Given the description of an element on the screen output the (x, y) to click on. 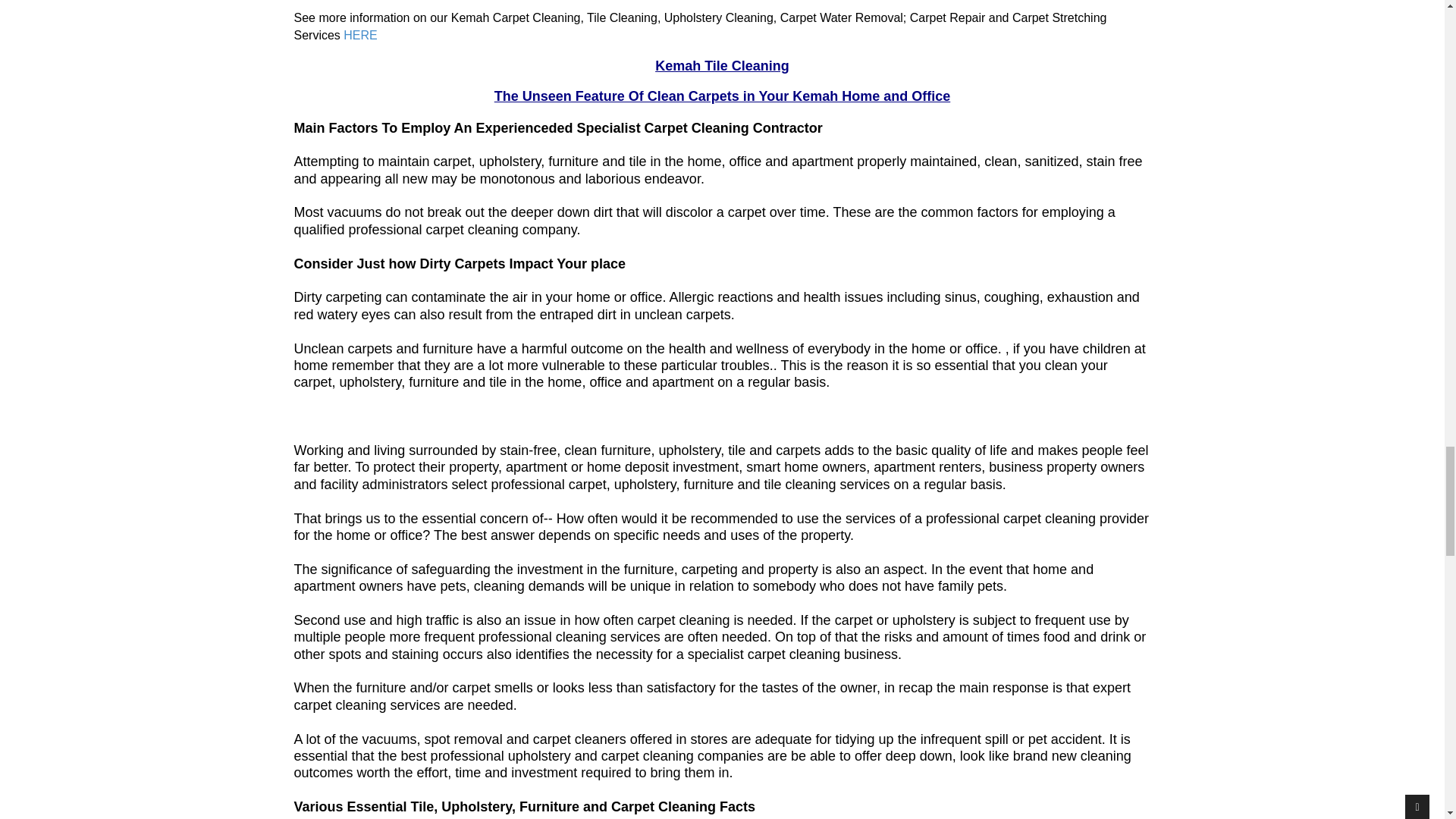
HERE (360, 34)
